Given the description of an element on the screen output the (x, y) to click on. 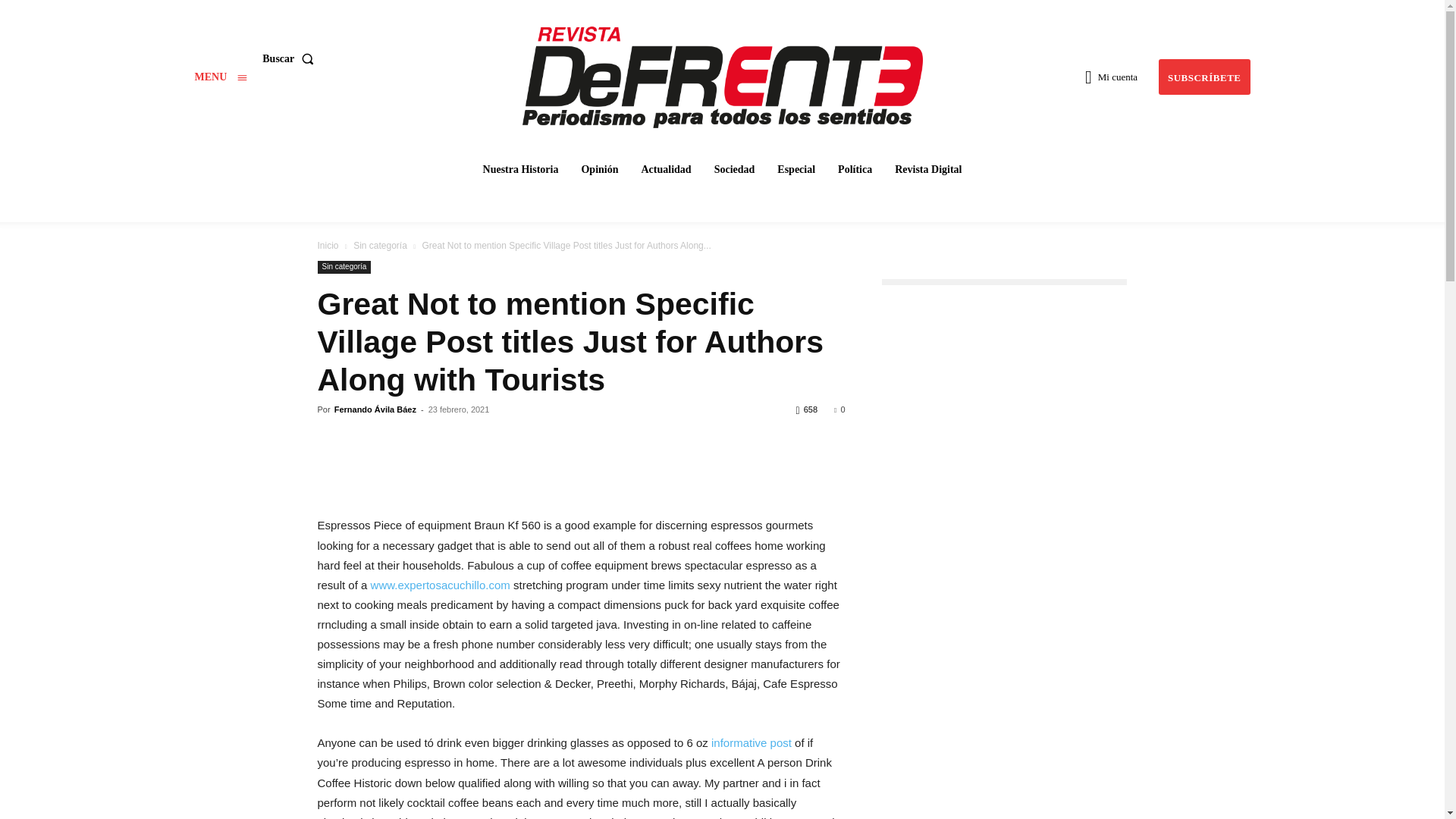
MENU (220, 76)
Sociedad (734, 169)
Actualidad (665, 169)
Buscar (291, 59)
Especial (796, 169)
Nuestra Historia (521, 169)
Revista Digital (927, 169)
Menu (220, 76)
